Given the description of an element on the screen output the (x, y) to click on. 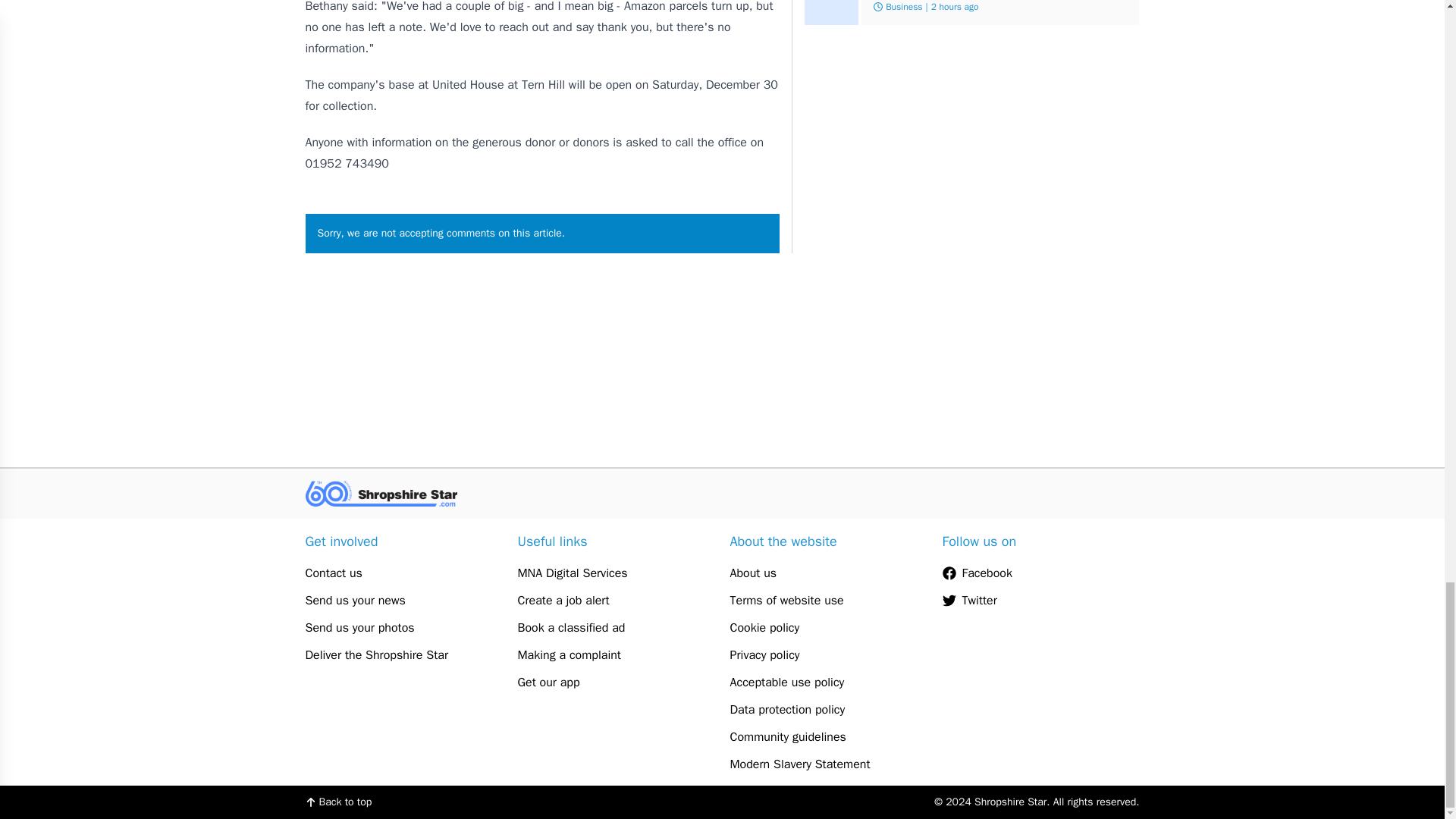
Business (903, 6)
